Given the description of an element on the screen output the (x, y) to click on. 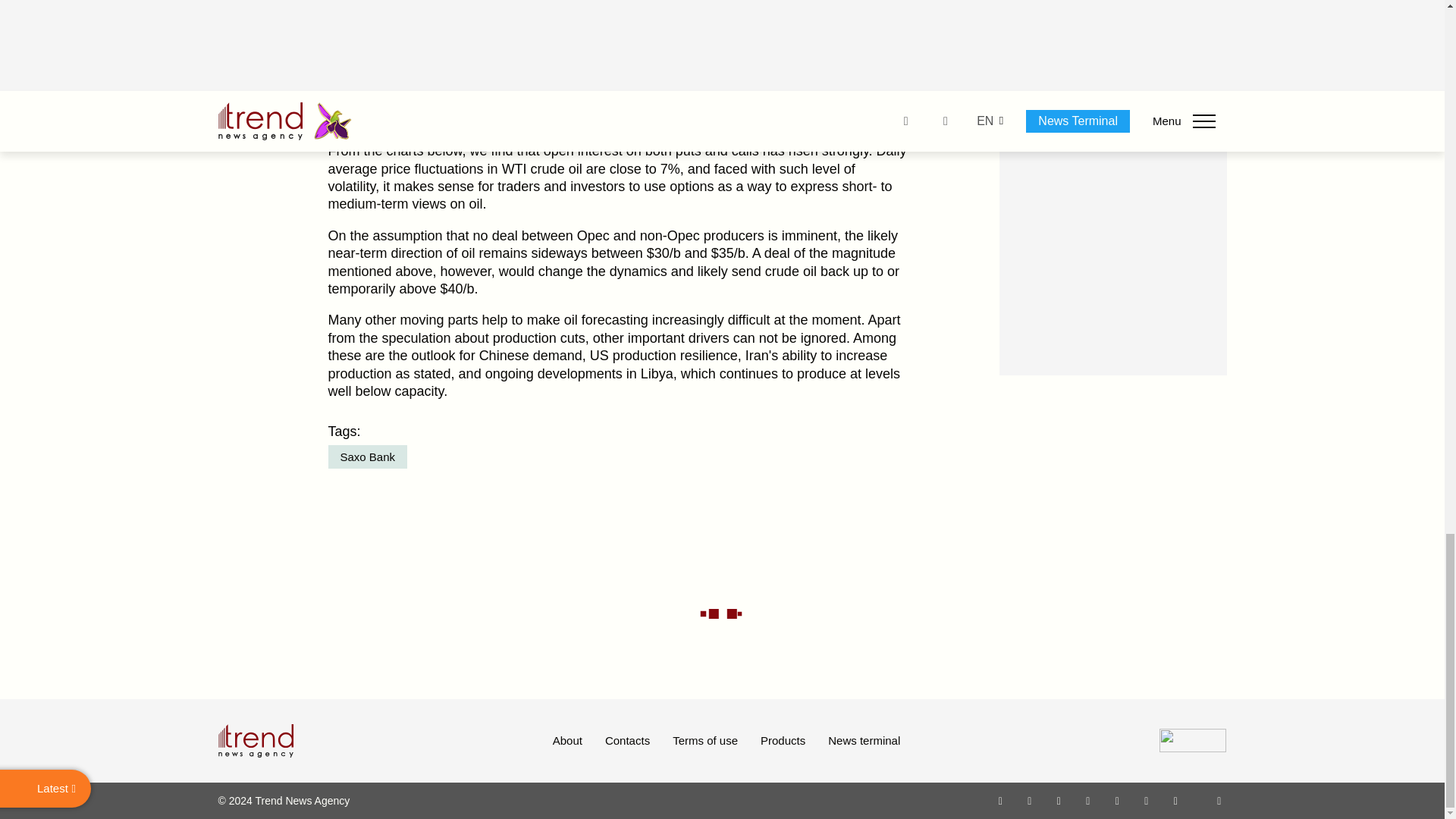
RSS Feed (1219, 800)
Whatsapp (1000, 800)
Telegram (1117, 800)
Twitter (1059, 800)
LinkedIn (1146, 800)
Facebook (1029, 800)
Youtube (1088, 800)
Android App (1176, 800)
